Given the description of an element on the screen output the (x, y) to click on. 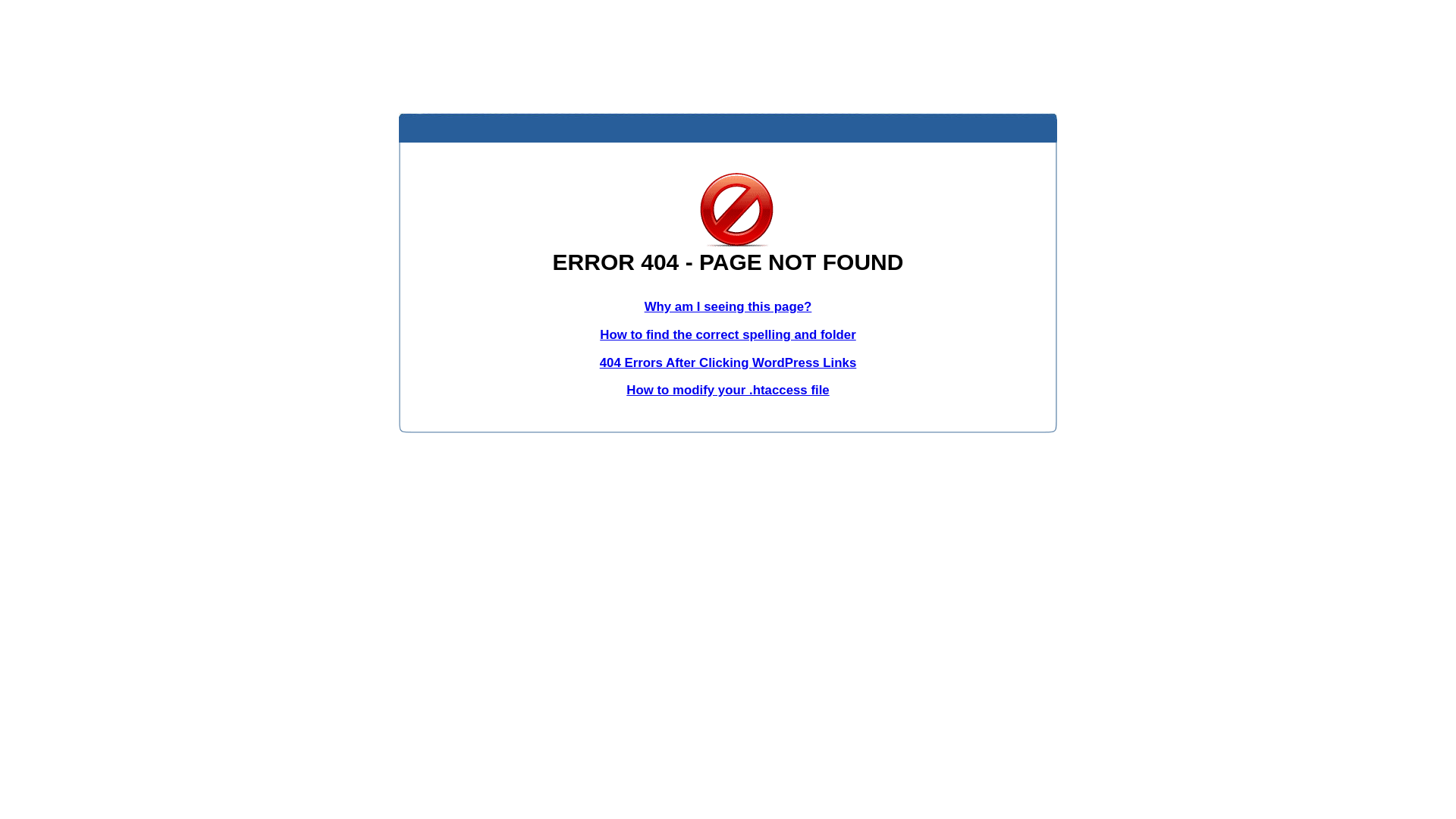
How to modify your .htaccess file Element type: text (727, 389)
How to find the correct spelling and folder Element type: text (727, 334)
404 Errors After Clicking WordPress Links Element type: text (727, 362)
Why am I seeing this page? Element type: text (728, 306)
